Given the description of an element on the screen output the (x, y) to click on. 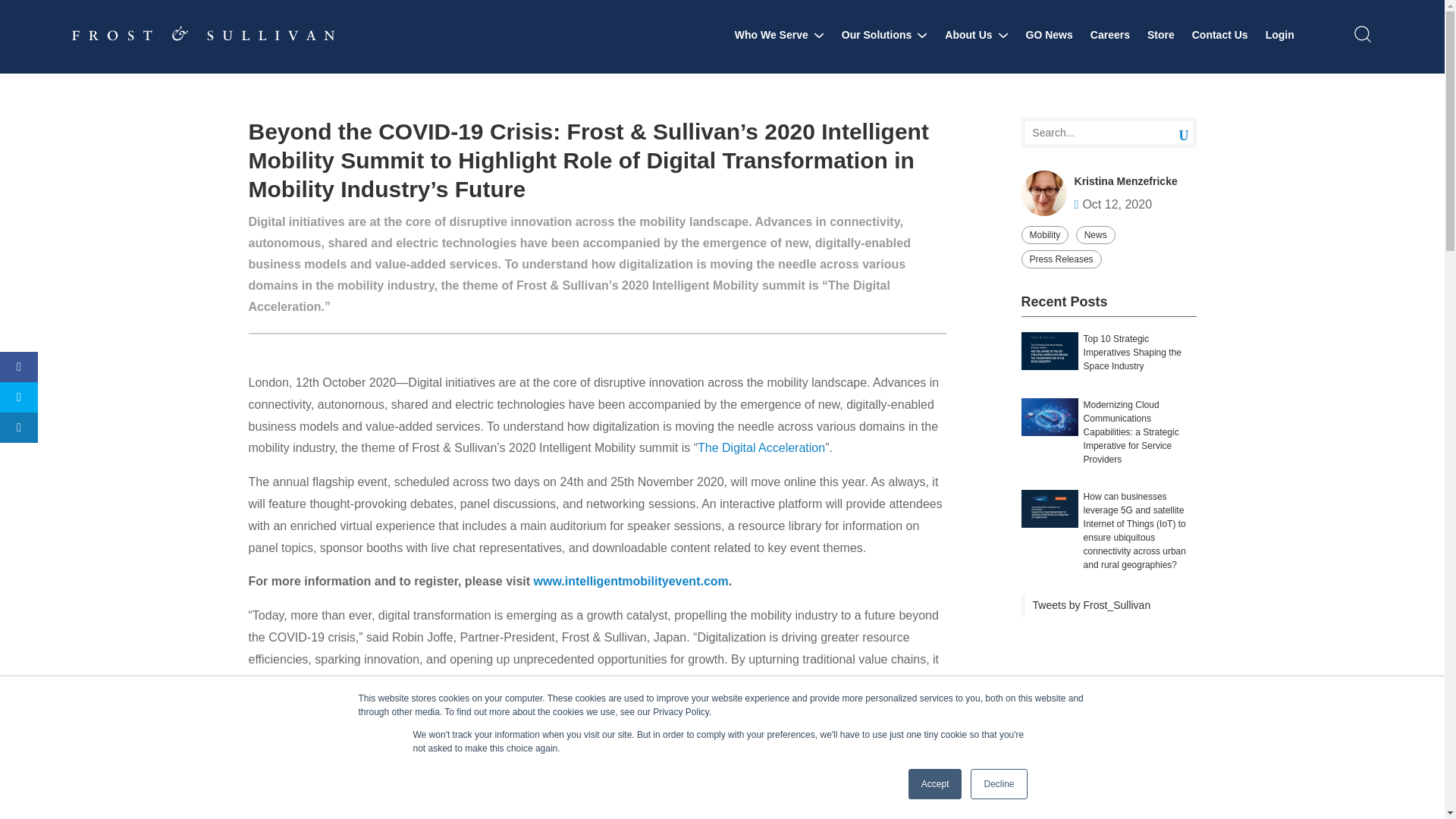
Who We Serve (779, 35)
Search (1172, 132)
Accept (935, 784)
Decline (998, 784)
